Given the description of an element on the screen output the (x, y) to click on. 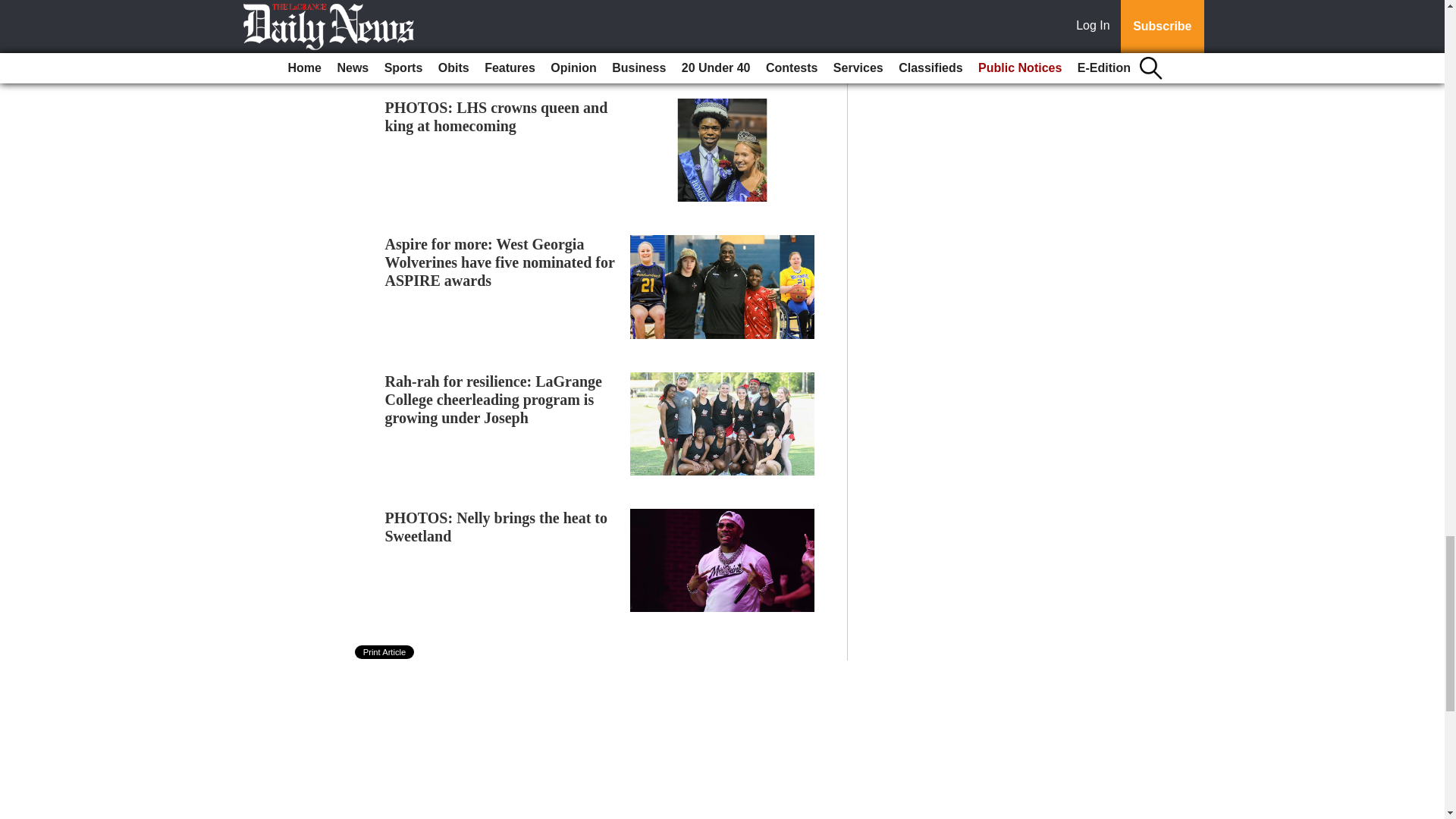
PHOTOS: Nelly brings the heat to Sweetland (496, 526)
PHOTOS: Nelly brings the heat to Sweetland (496, 526)
PHOTOS: LHS crowns queen and king at homecoming (496, 116)
Print Article (384, 652)
PHOTOS: LHS crowns queen and king at homecoming (496, 116)
